Given the description of an element on the screen output the (x, y) to click on. 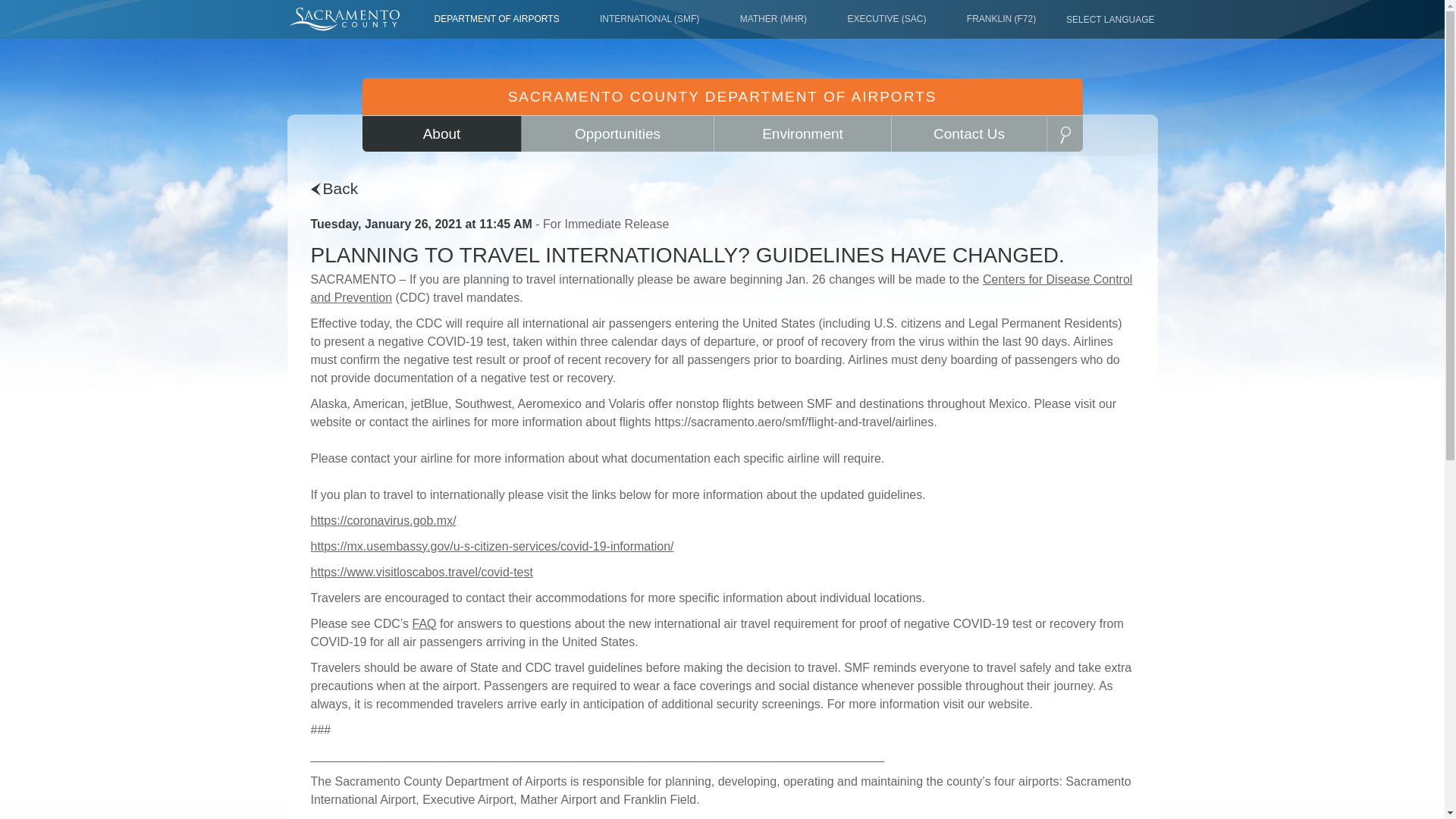
About (441, 133)
SACRAMENTO COUNTY DEPARTMENT OF AIRPORTS (722, 96)
SELECT LANGUAGE (1103, 19)
SACRAMENTO COUNTY (343, 19)
